Given the description of an element on the screen output the (x, y) to click on. 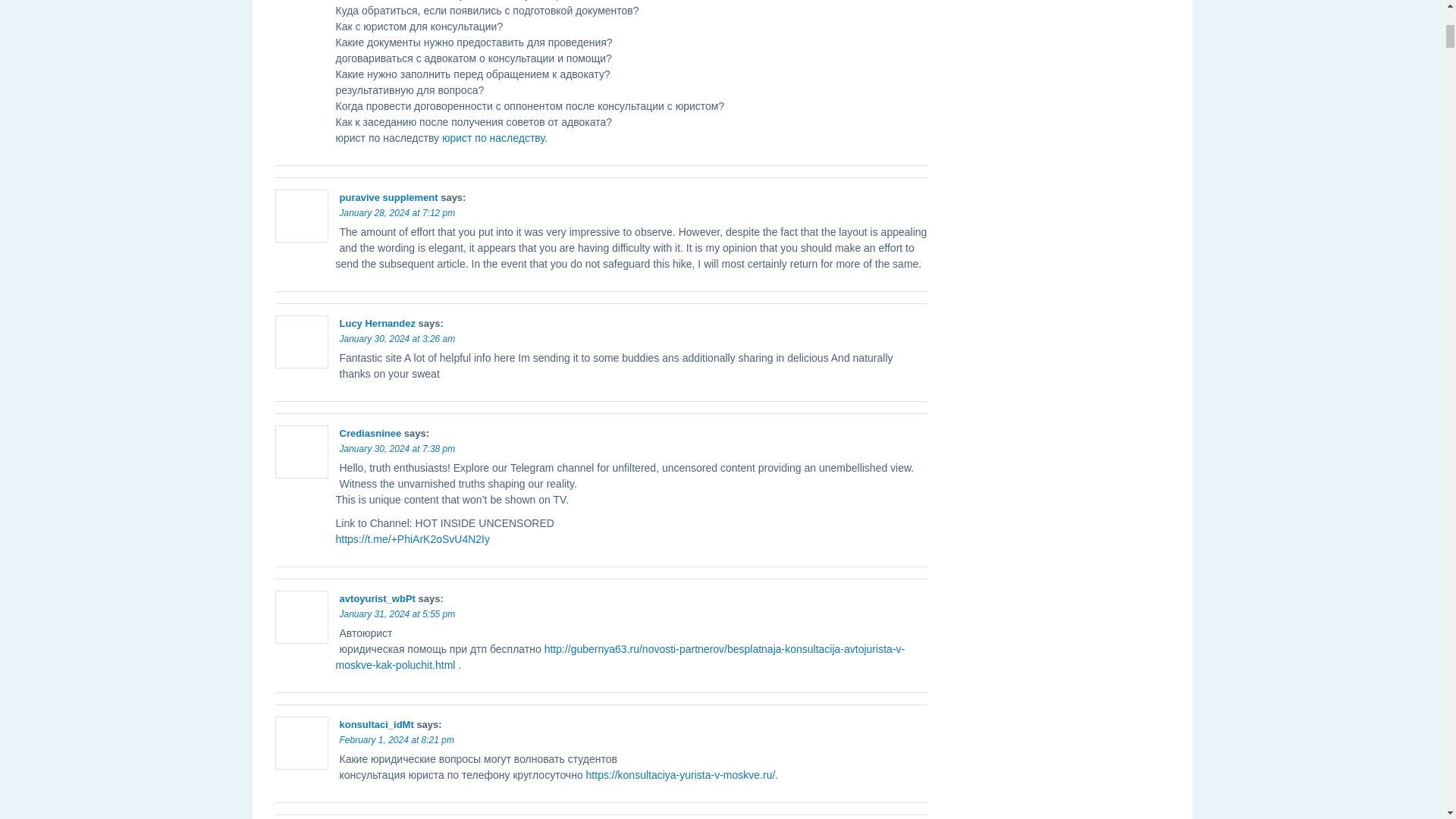
puravive supplement (388, 197)
Crediasninee (370, 432)
January 30, 2024 at 7:38 pm (397, 448)
Lucy Hernandez (376, 323)
January 28, 2024 at 7:12 pm (397, 213)
January 31, 2024 at 5:55 pm (397, 614)
February 1, 2024 at 8:21 pm (396, 739)
January 30, 2024 at 3:26 am (397, 338)
